Given the description of an element on the screen output the (x, y) to click on. 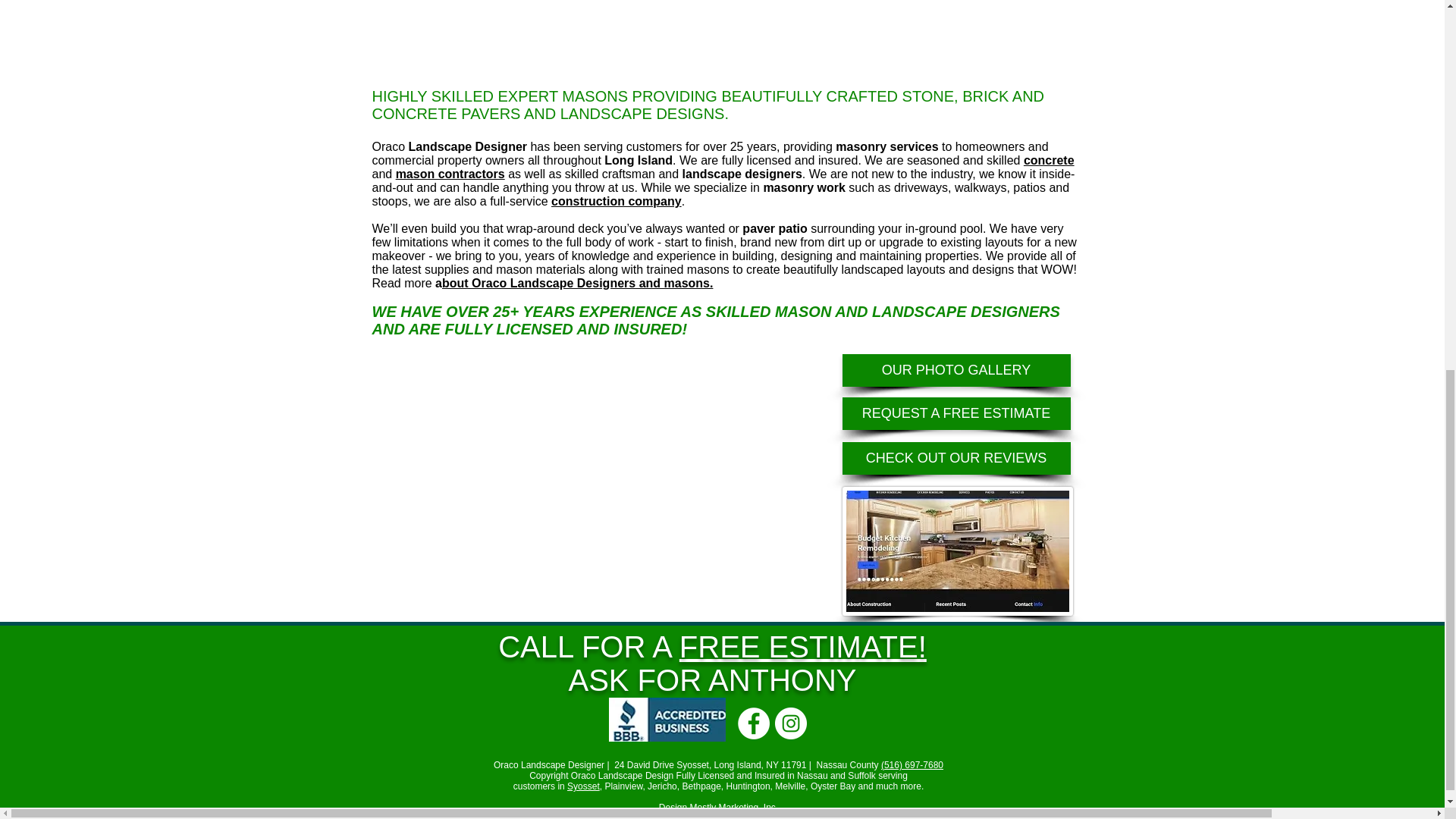
REQUEST A FREE ESTIMATE (955, 413)
mason contractors (450, 173)
bout Oraco Landscape Designers and masons. (577, 282)
concrete (1048, 160)
Syosset (583, 786)
OUR PHOTO GALLERY (955, 369)
FREE ESTIMATE! (802, 646)
construction company (616, 201)
Mostly Marketing, Inc. (732, 807)
CHECK OUT OUR REVIEWS (955, 458)
